Given the description of an element on the screen output the (x, y) to click on. 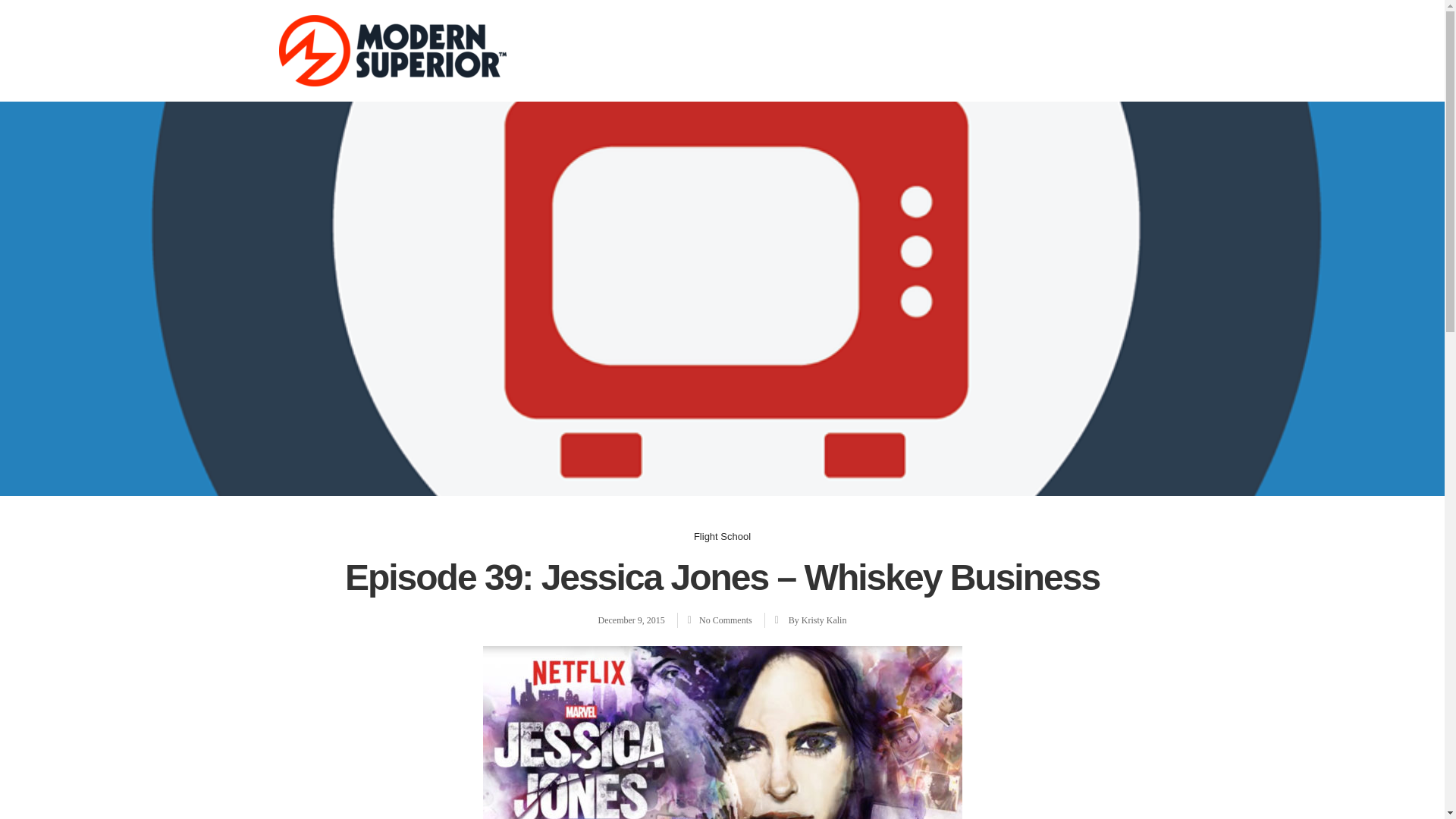
No Comments (721, 620)
Kristy Kalin (824, 620)
December 9, 2015 (631, 620)
Post Comment (47, 15)
Flight School (722, 536)
